Given the description of an element on the screen output the (x, y) to click on. 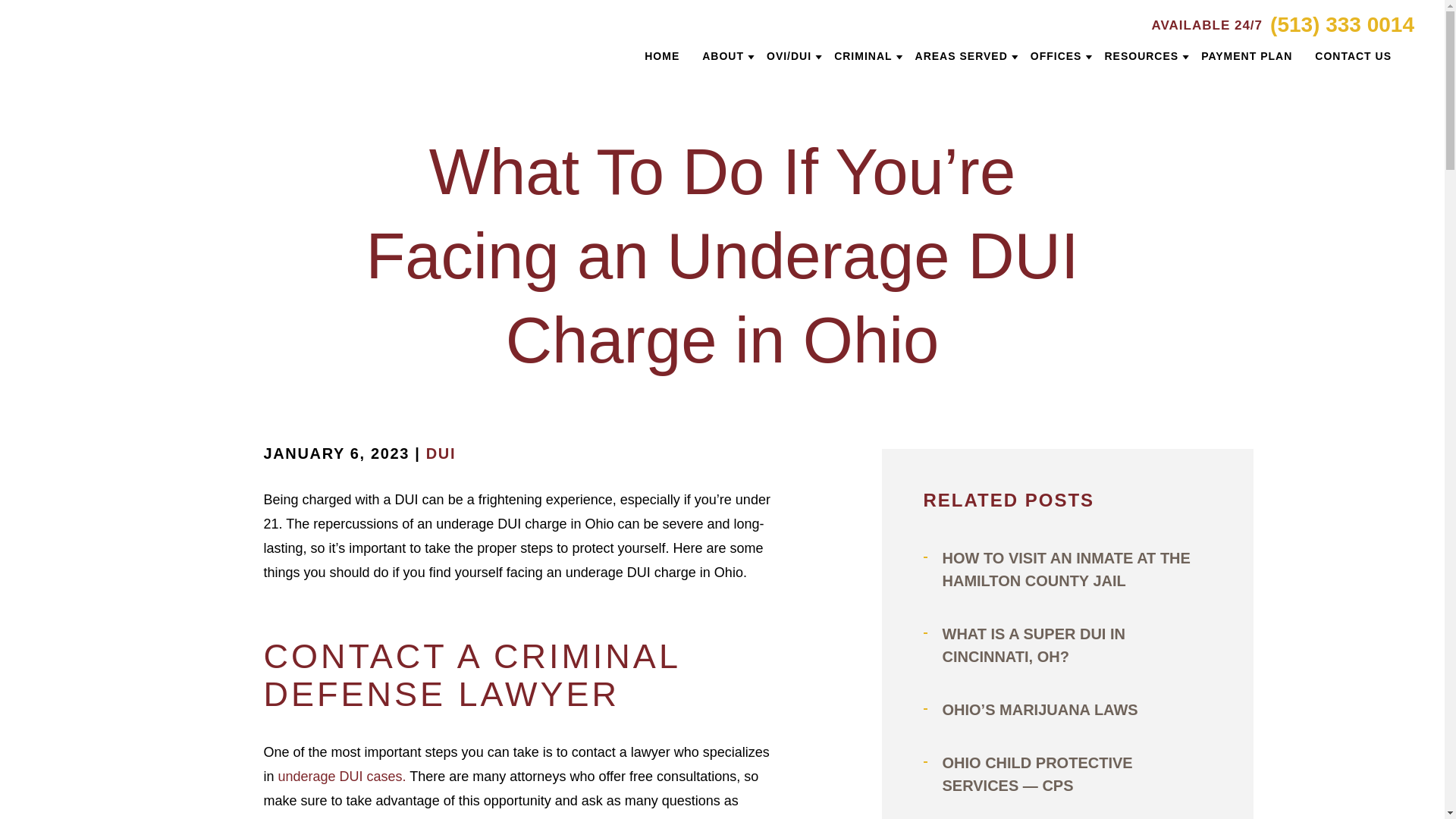
CRIMINAL (862, 55)
ABOUT (722, 55)
HOME (662, 55)
OFFICES (1055, 55)
AREAS SERVED (961, 55)
